Given the description of an element on the screen output the (x, y) to click on. 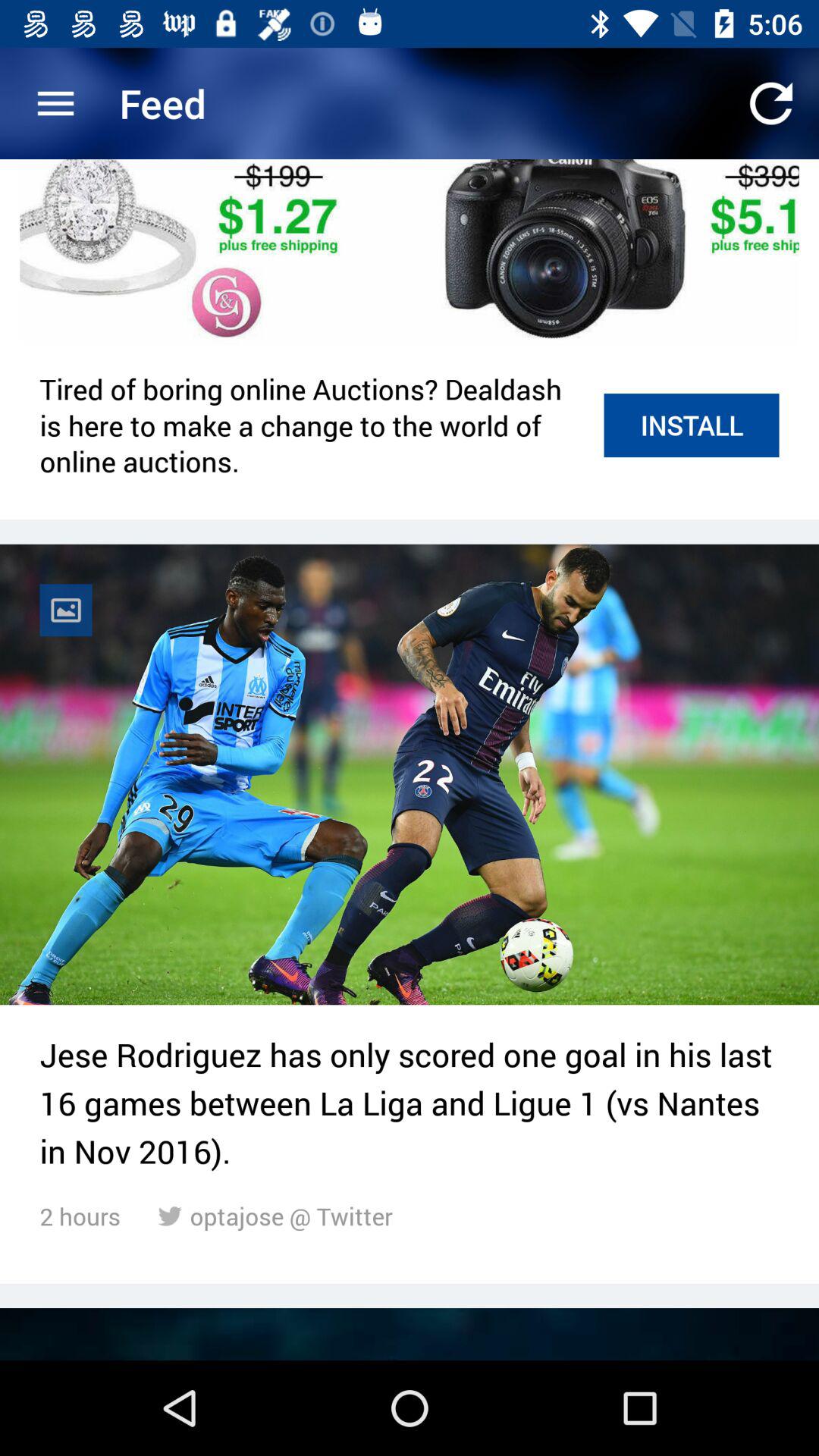
tap the tired of boring icon (313, 425)
